Given the description of an element on the screen output the (x, y) to click on. 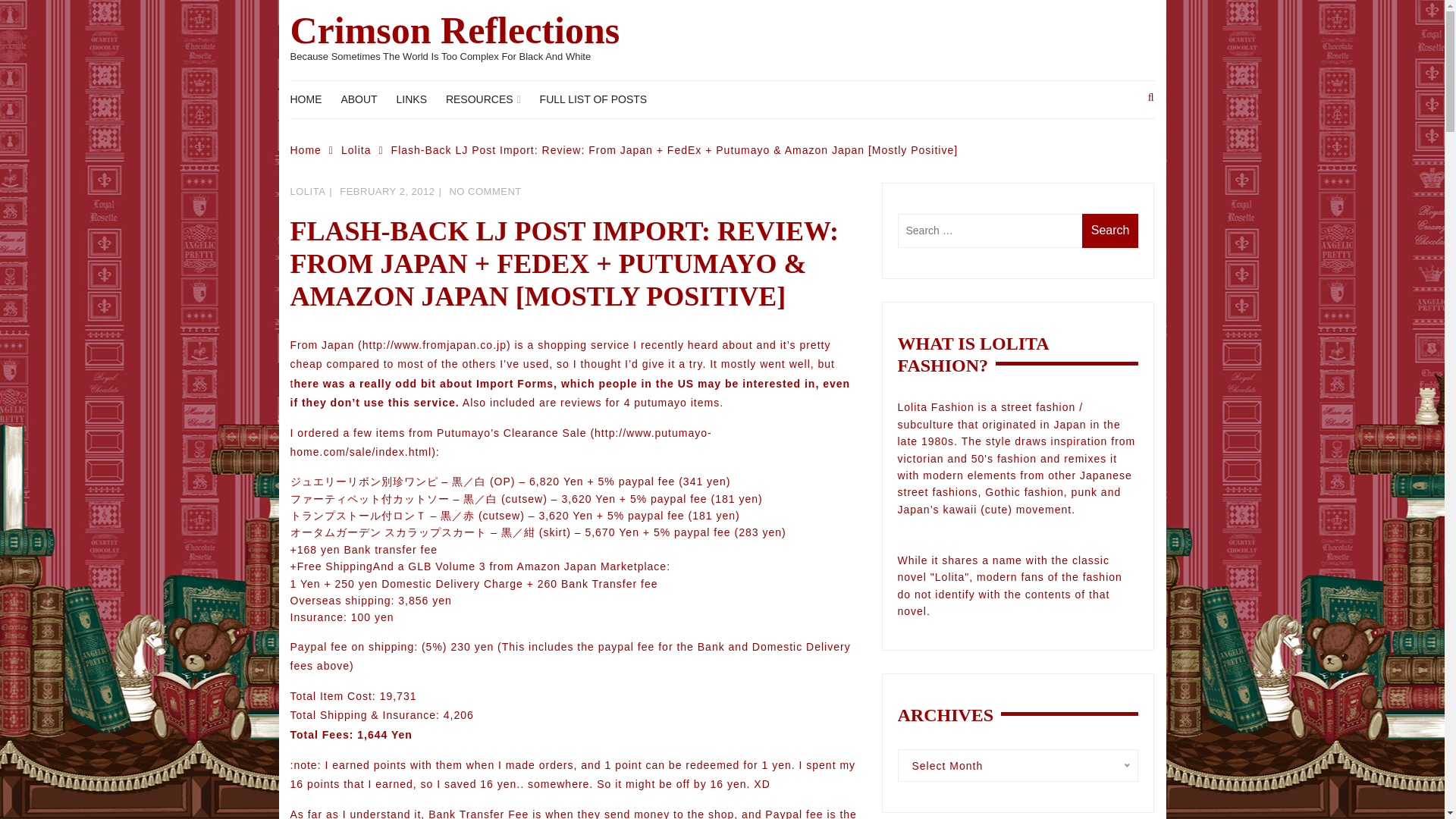
ABOUT (365, 99)
Search (1109, 230)
LOLITA (306, 191)
LINKS (419, 99)
HOME (312, 99)
Crimson Reflections (454, 30)
Home (314, 149)
Search (1109, 230)
FEBRUARY 2, 2012 (386, 191)
Lolita (365, 149)
RESOURCES (490, 99)
FULL LIST OF POSTS (601, 99)
